Given the description of an element on the screen output the (x, y) to click on. 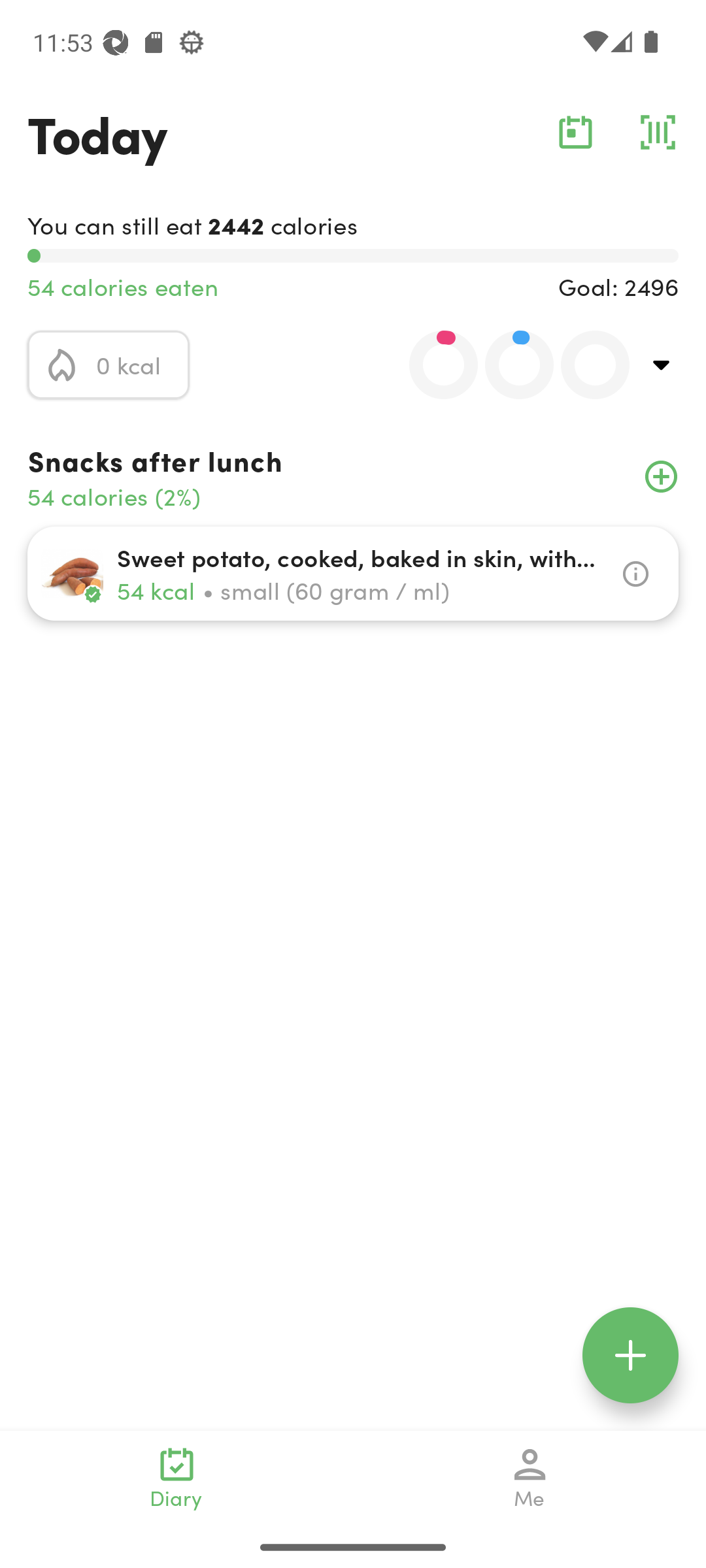
calendar_action (575, 132)
barcode_action (658, 132)
calorie_icon 0 kcal (108, 365)
0.03 0.02 0.0 (508, 365)
top_right_action (661, 365)
info_icon (636, 573)
floating_action_icon (630, 1355)
Me navigation_icon (529, 1478)
